Given the description of an element on the screen output the (x, y) to click on. 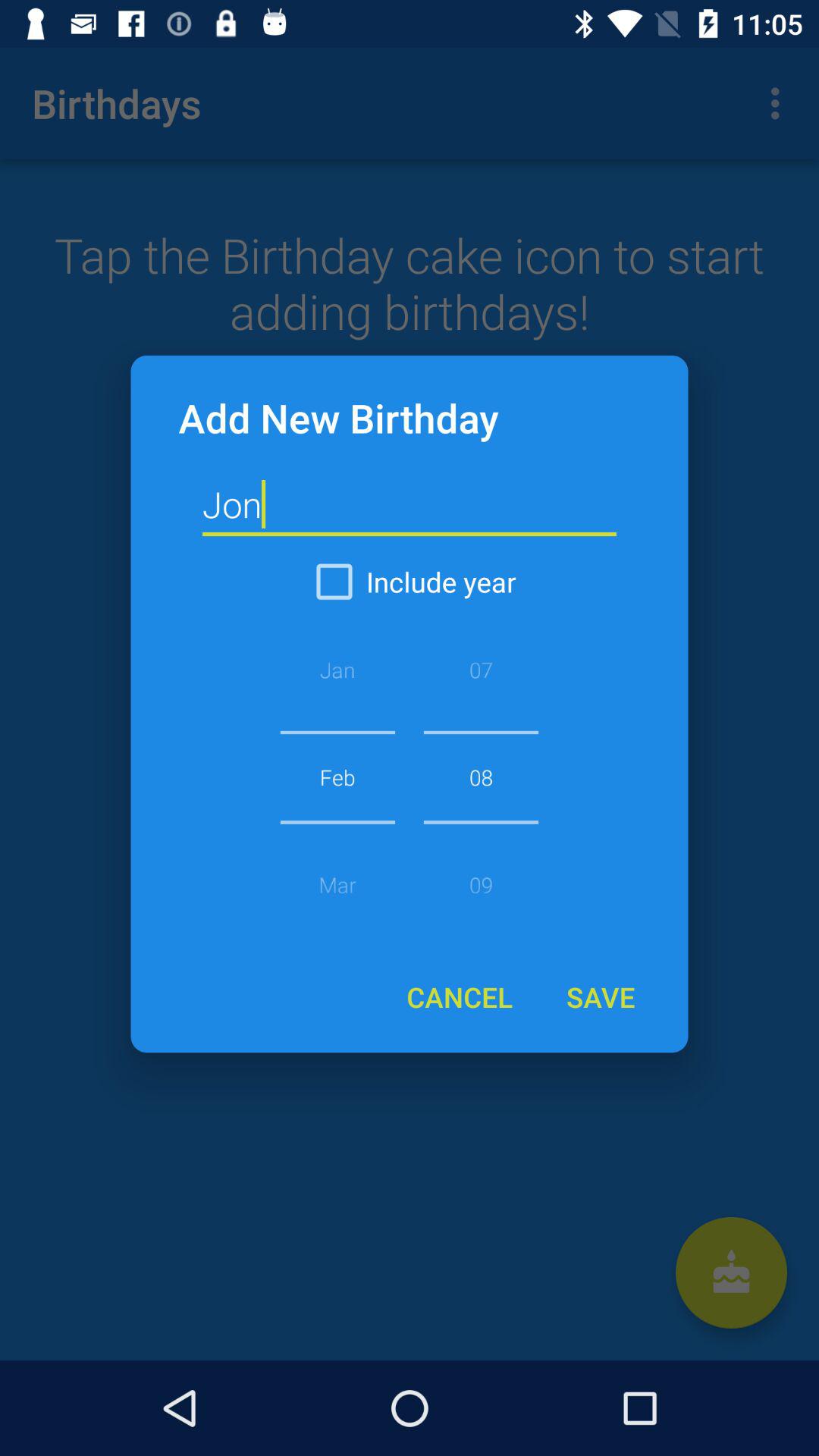
tap the 08 item (480, 776)
